Given the description of an element on the screen output the (x, y) to click on. 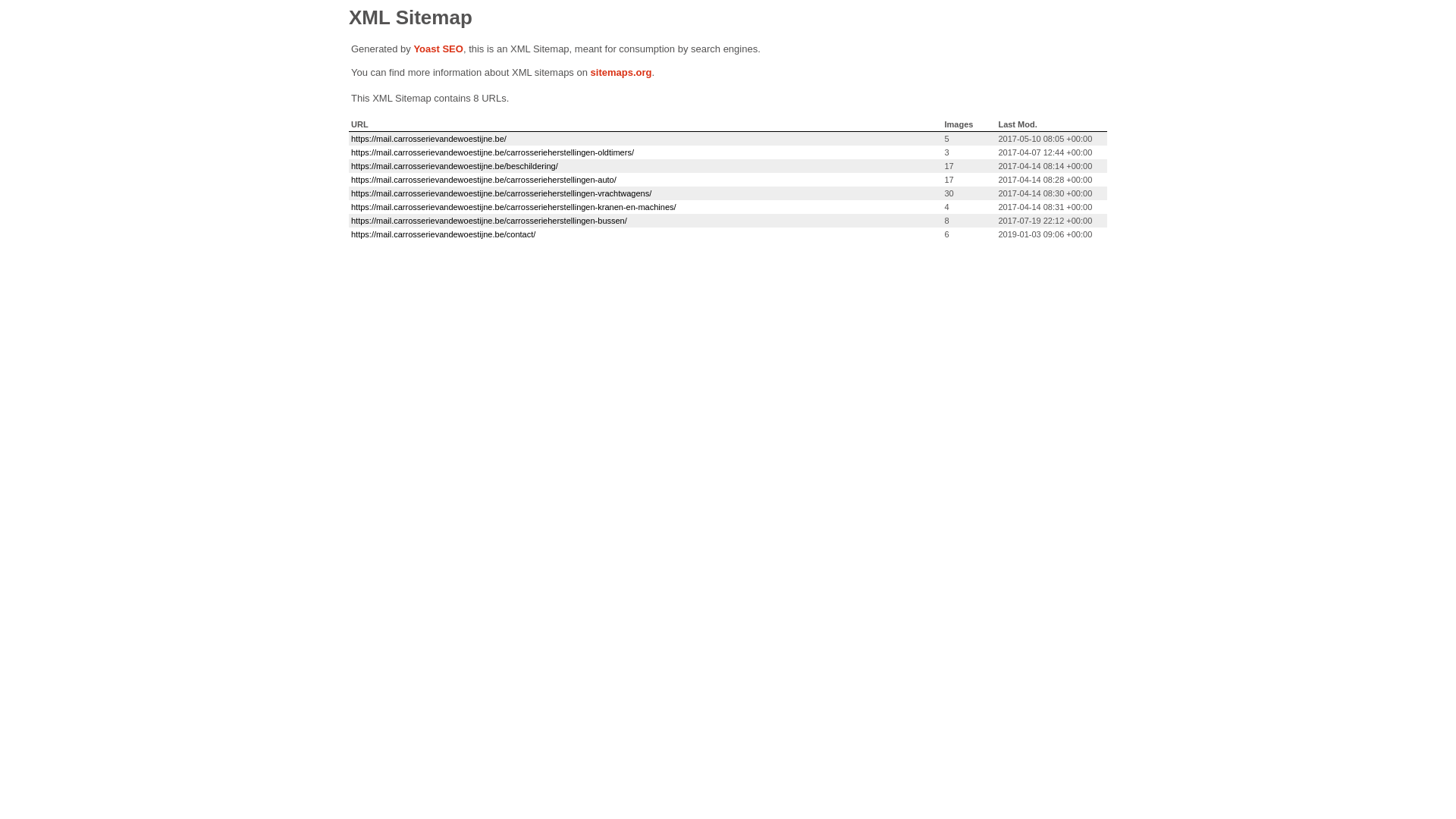
https://mail.carrosserievandewoestijne.be/ Element type: text (428, 138)
Yoast SEO Element type: text (438, 48)
https://mail.carrosserievandewoestijne.be/beschildering/ Element type: text (454, 165)
https://mail.carrosserievandewoestijne.be/contact/ Element type: text (443, 233)
sitemaps.org Element type: text (621, 72)
